Given the description of an element on the screen output the (x, y) to click on. 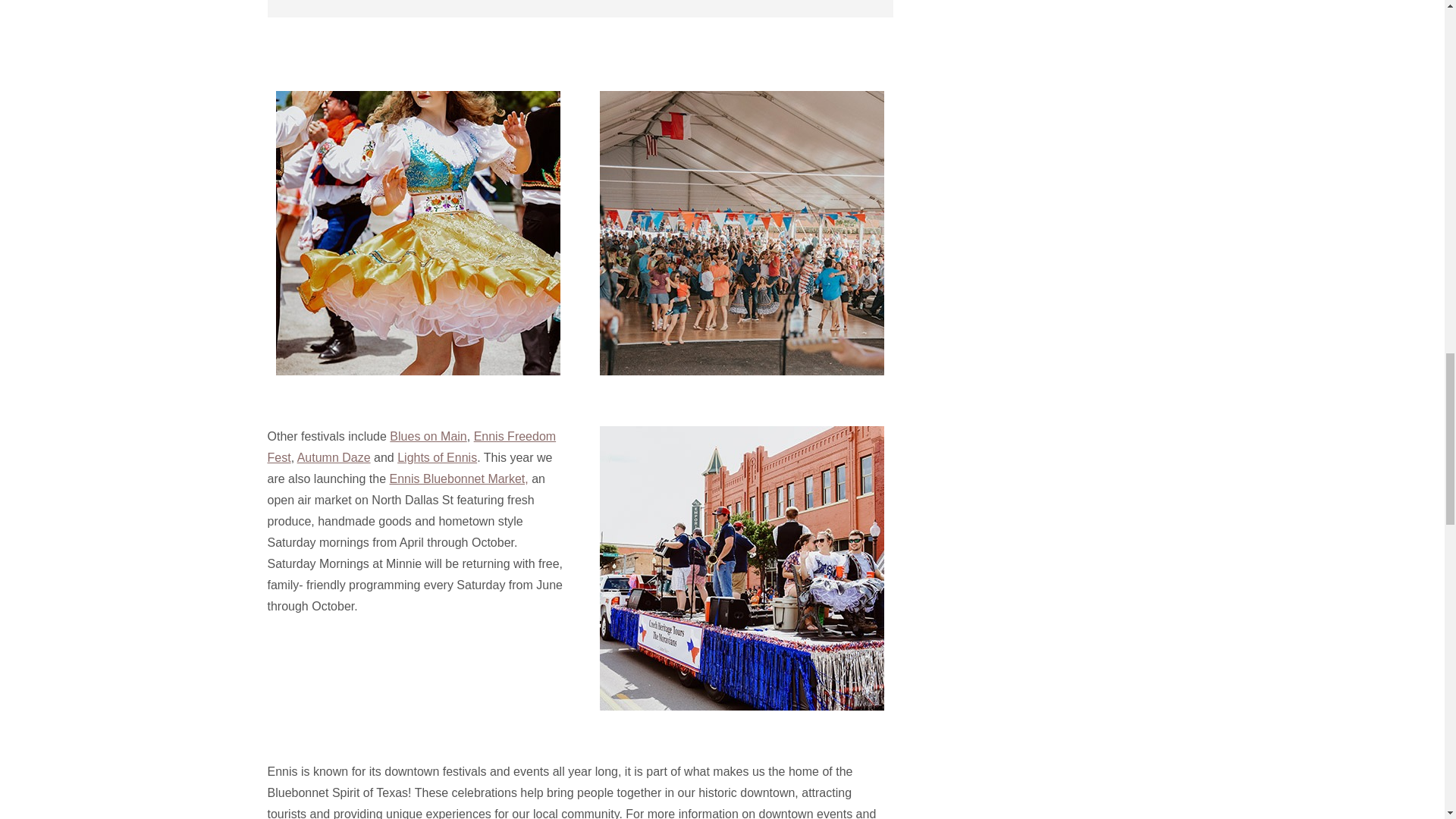
Blues on Main (427, 435)
Autumn Daze (334, 456)
Ennis Freedom Fest (411, 446)
Ennis Czech dance hall (741, 232)
Ennis festival dancer (418, 232)
